Given the description of an element on the screen output the (x, y) to click on. 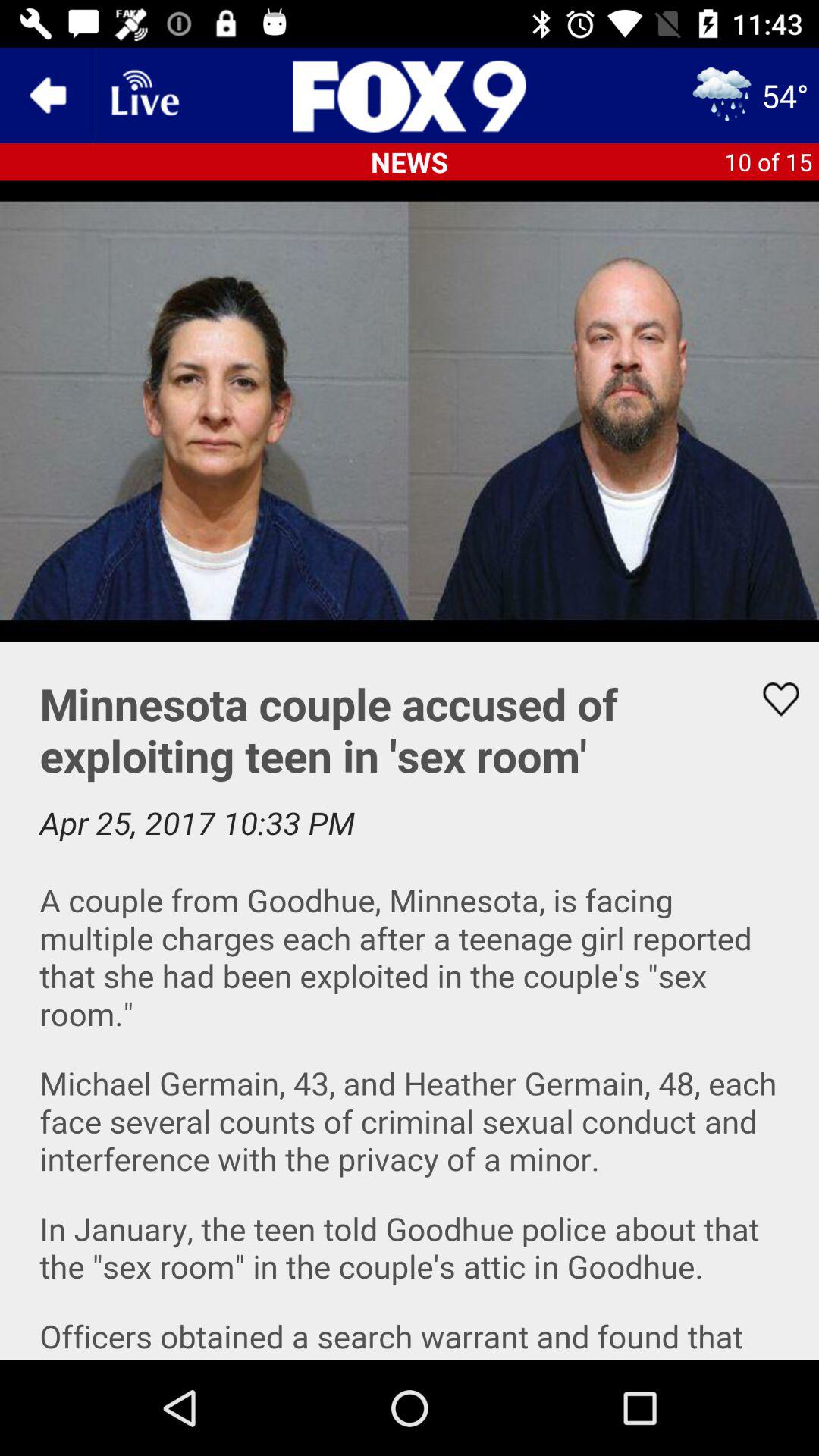
go to main page (409, 95)
